Given the description of an element on the screen output the (x, y) to click on. 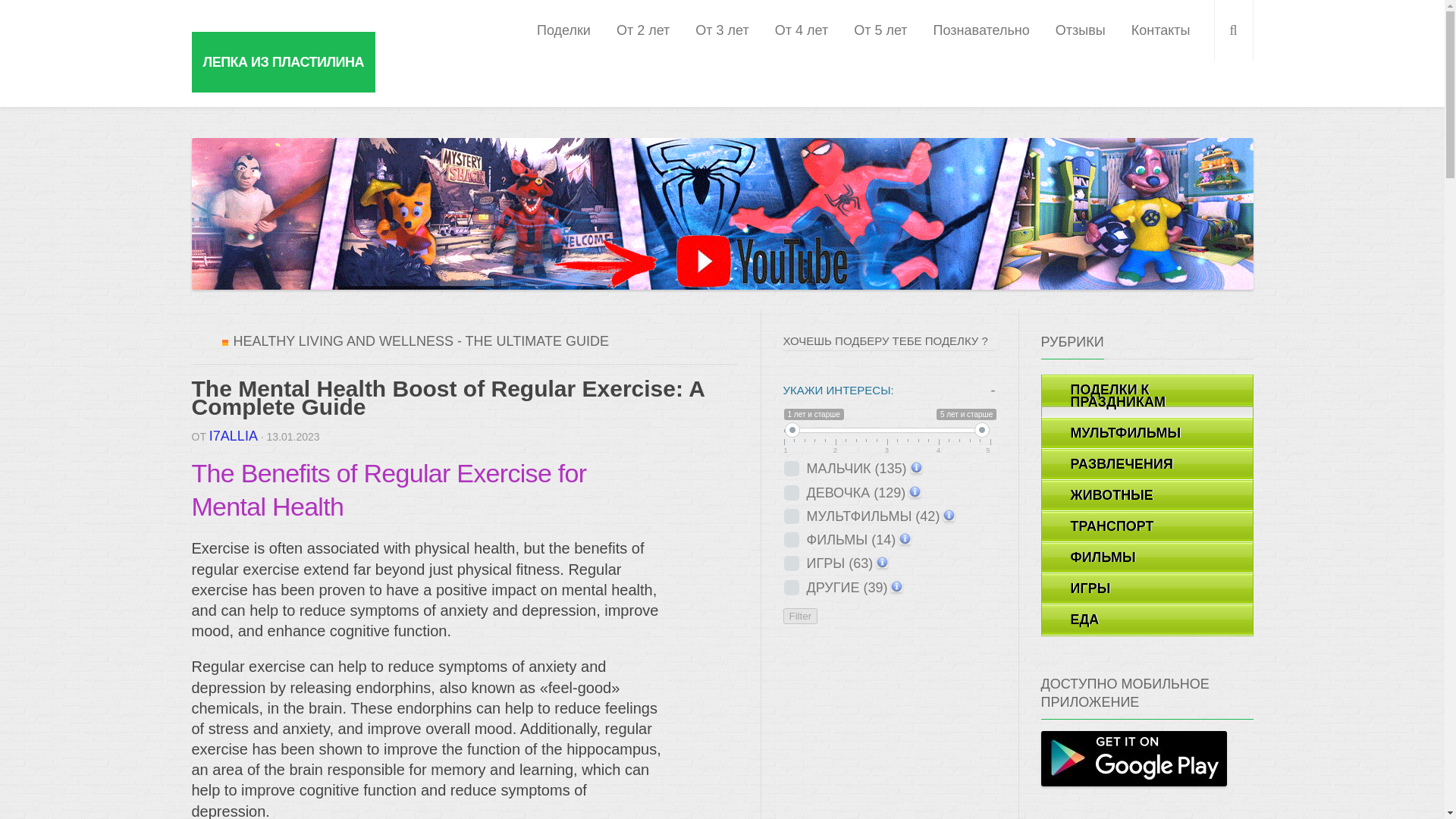
I7ALLIA (233, 435)
Filter (799, 616)
HEALTHY LIVING AND WELLNESS - THE ULTIMATE GUIDE (420, 340)
